Given the description of an element on the screen output the (x, y) to click on. 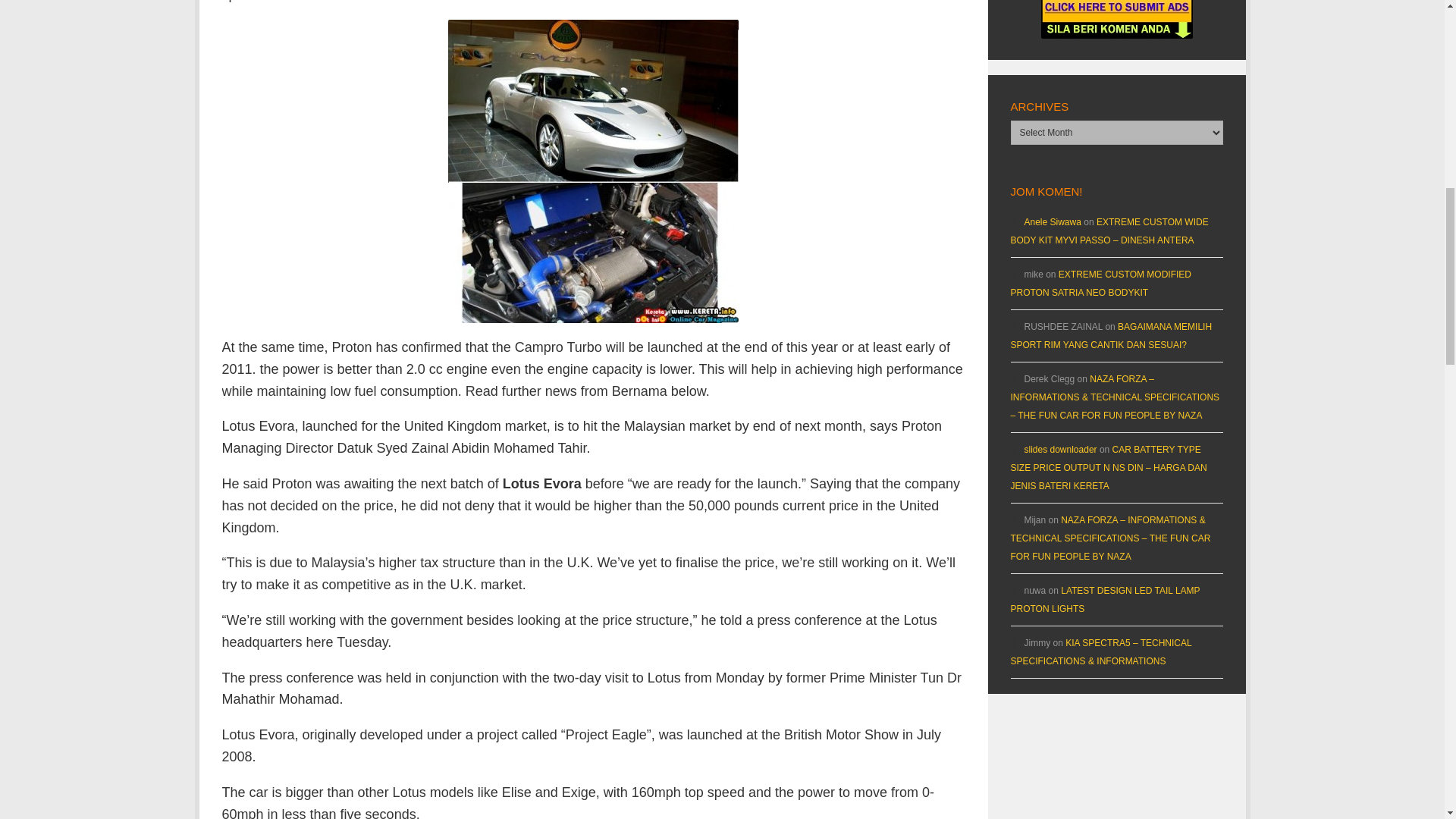
slides downloader (1059, 449)
Anele Siwawa (1051, 222)
BAGAIMANA MEMILIH SPORT RIM YANG CANTIK DAN SESUAI? (1110, 335)
LATEST DESIGN LED TAIL LAMP PROTON LIGHTS (1104, 599)
EXTREME CUSTOM MODIFIED PROTON SATRIA NEO BODYKIT (1100, 283)
